Given the description of an element on the screen output the (x, y) to click on. 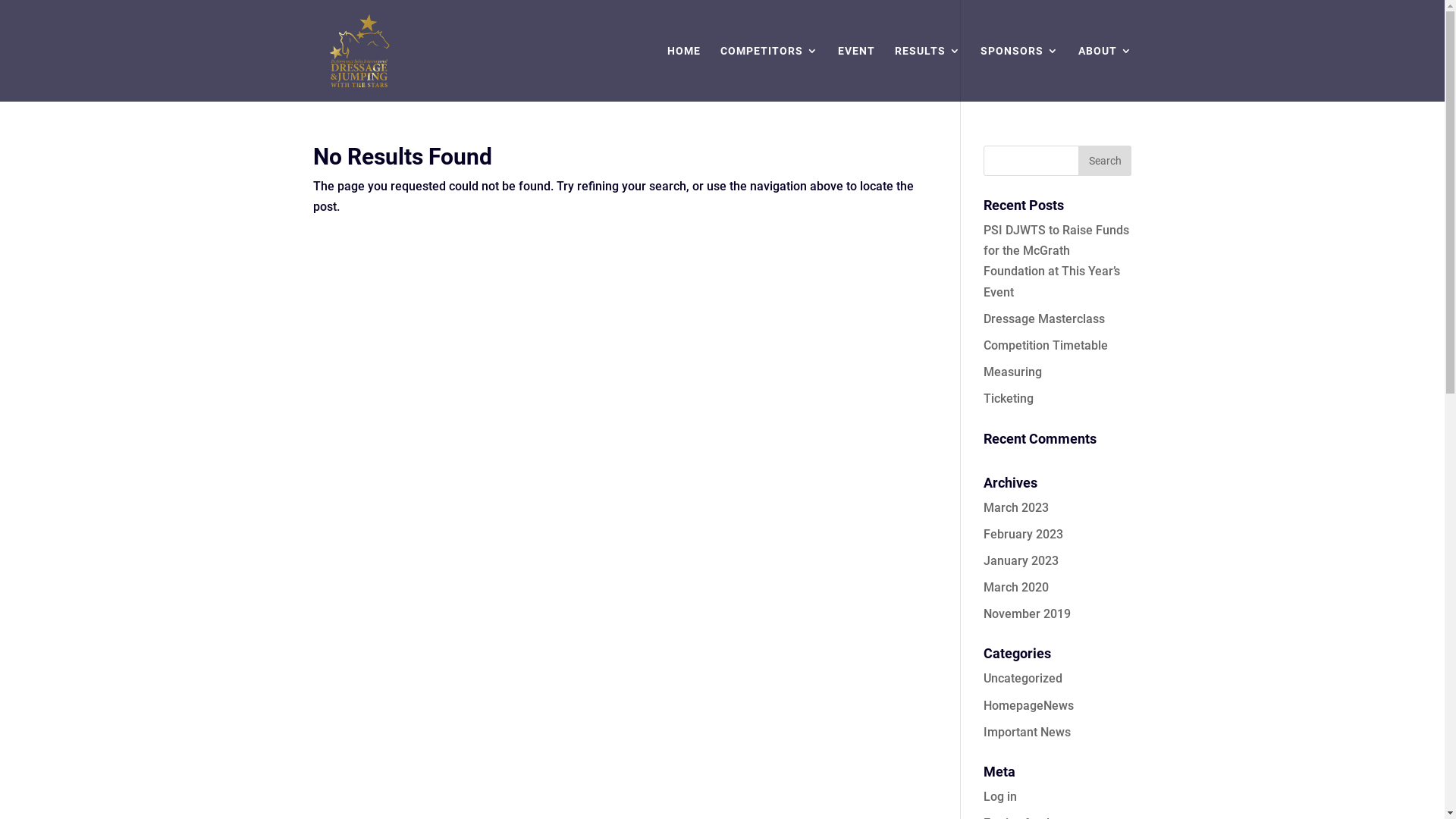
Log in Element type: text (999, 796)
COMPETITORS Element type: text (769, 73)
Measuring Element type: text (1012, 371)
Search Element type: text (1104, 160)
Uncategorized Element type: text (1022, 678)
HOME Element type: text (683, 73)
ABOUT Element type: text (1105, 73)
Important News Element type: text (1026, 731)
Dressage Masterclass Element type: text (1043, 318)
Ticketing Element type: text (1008, 398)
Competition Timetable Element type: text (1045, 345)
HomepageNews Element type: text (1028, 705)
November 2019 Element type: text (1026, 613)
February 2023 Element type: text (1023, 534)
SPONSORS Element type: text (1018, 73)
January 2023 Element type: text (1020, 560)
March 2023 Element type: text (1015, 507)
RESULTS Element type: text (927, 73)
March 2020 Element type: text (1015, 587)
EVENT Element type: text (855, 73)
